Given the description of an element on the screen output the (x, y) to click on. 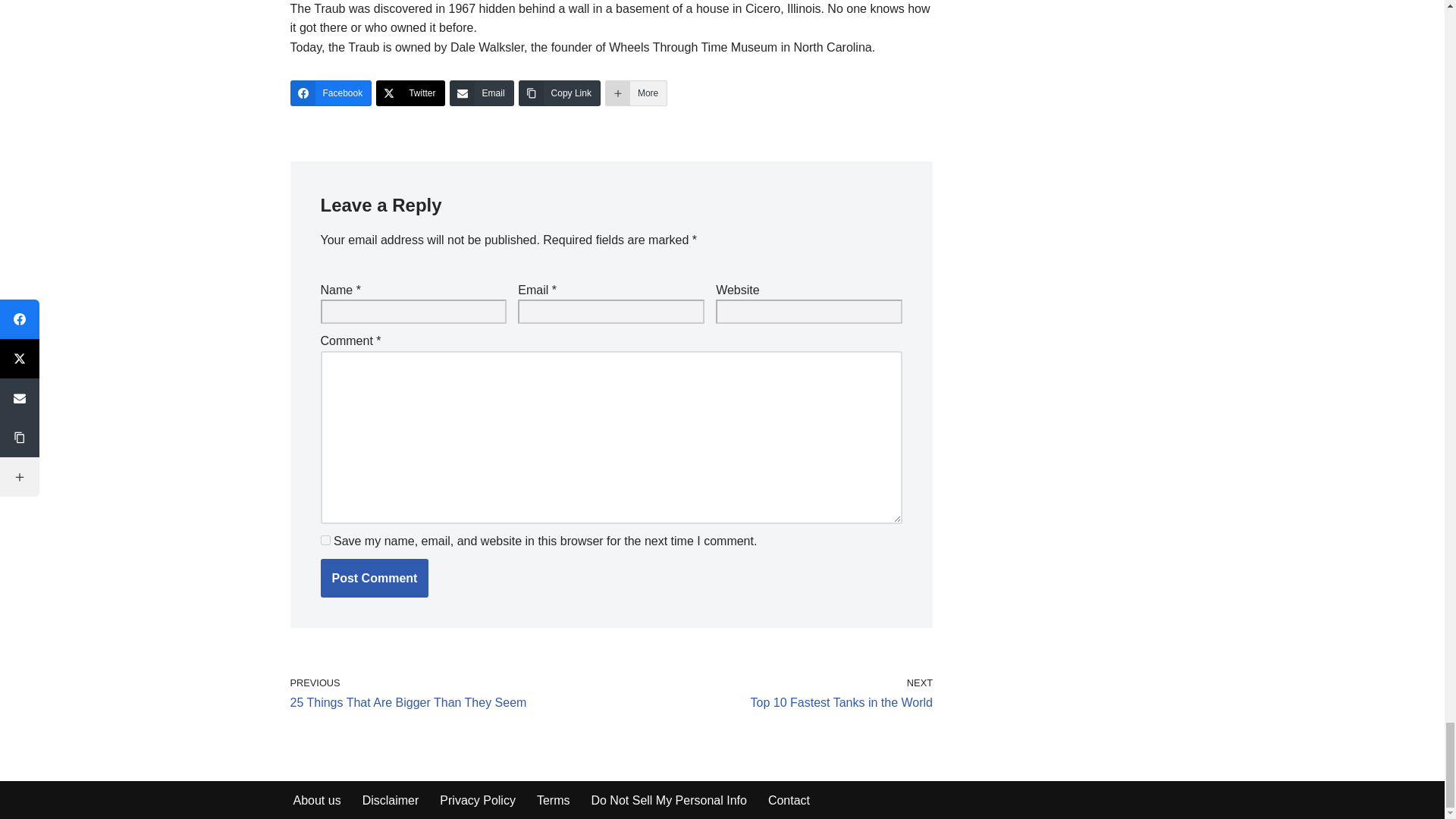
Post Comment (374, 578)
yes (325, 540)
